Given the description of an element on the screen output the (x, y) to click on. 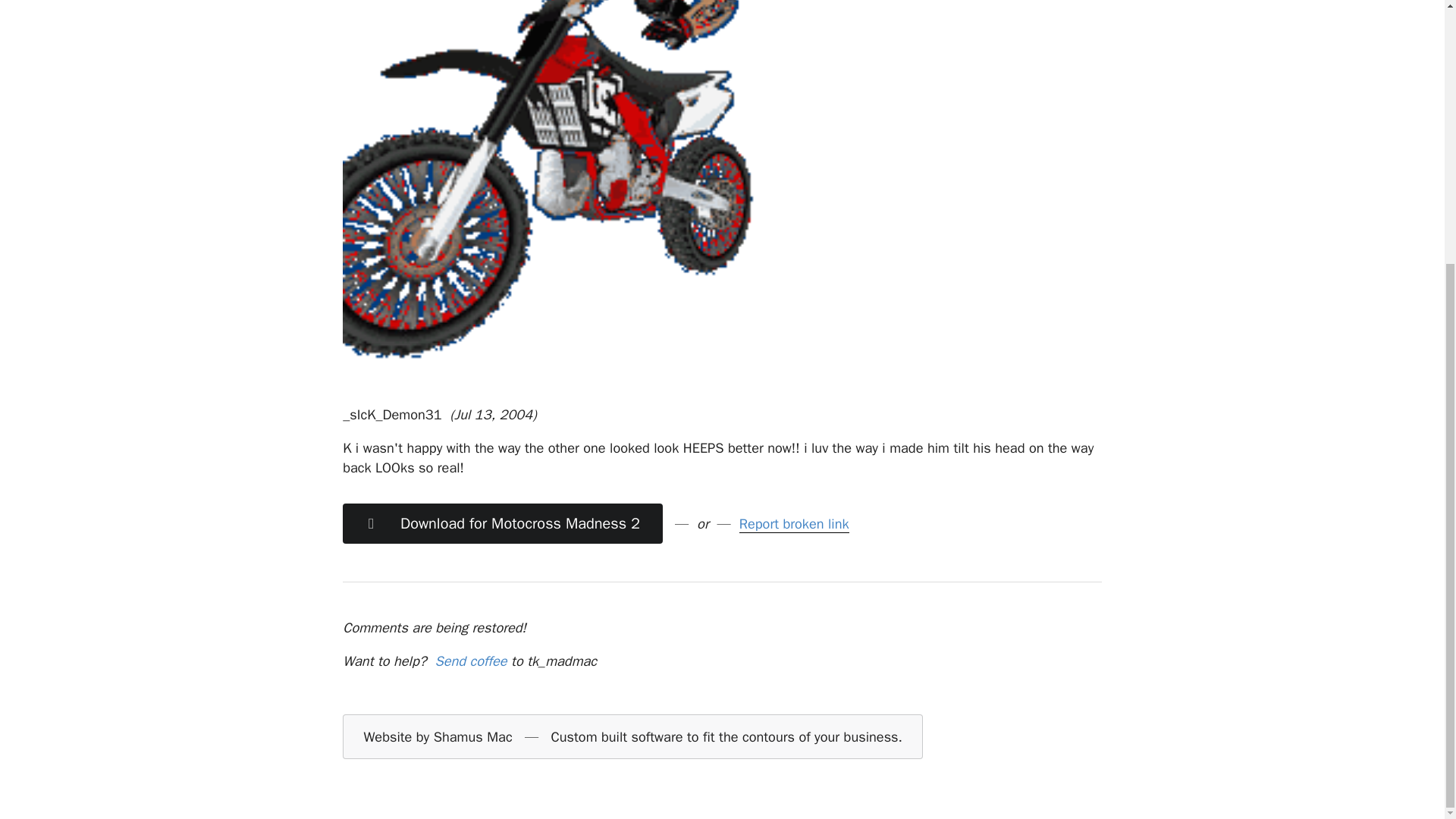
Report broken link (793, 524)
  Download for Motocross Madness 2 (502, 522)
Send coffee (469, 660)
